Given the description of an element on the screen output the (x, y) to click on. 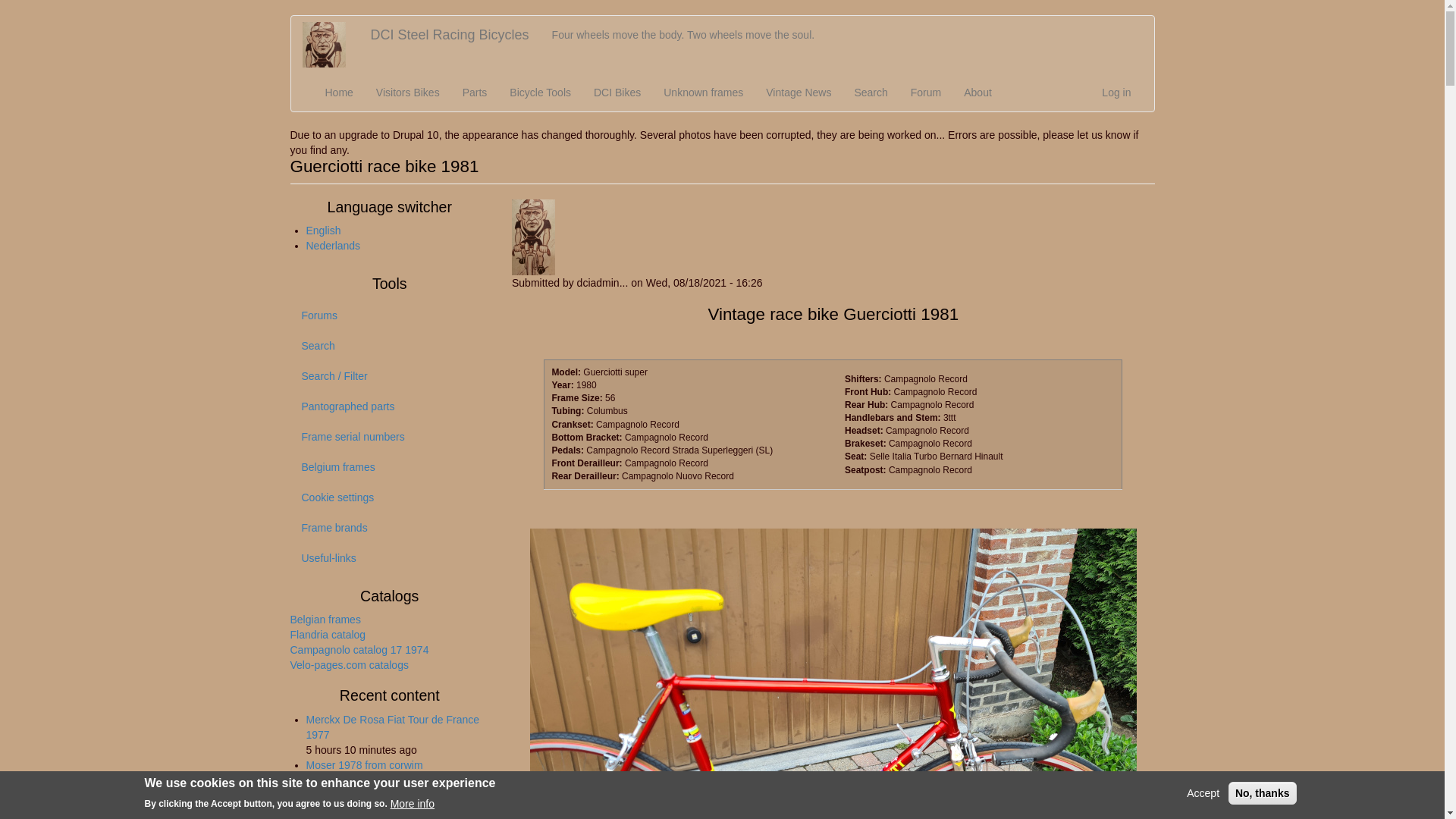
Belgian frames Element type: text (324, 619)
Nederlands Element type: text (333, 245)
Campagnolo catalog 17 1974 Element type: text (358, 649)
Accept Element type: text (1202, 792)
Visitors Bikes Element type: text (407, 92)
Bicycle Tools Element type: text (540, 92)
Vintage News Element type: text (798, 92)
Forums Element type: text (389, 315)
Search Element type: text (389, 345)
Home Element type: hover (329, 44)
About Element type: text (977, 92)
DCI Bikes Element type: text (617, 92)
Useful-links Element type: text (389, 557)
Flandria catalog Element type: text (327, 634)
Skip to main content Element type: text (0, 15)
Moser 1978 from corwim Element type: text (364, 765)
Cookie settings Element type: text (389, 497)
Log in Element type: text (1116, 92)
Search / Filter Element type: text (389, 375)
Velo-pages.com catalogs Element type: text (348, 664)
Forum Element type: text (925, 92)
Campagnolo Gran Sport Deraileur 1955 Element type: text (386, 802)
Merckx De Rosa Fiat Tour de France 1977 Element type: text (393, 726)
Home Element type: text (338, 92)
Frame brands Element type: text (389, 527)
No, thanks Element type: text (1262, 792)
DCI Steel Racing Bicycles Element type: text (449, 34)
Unknown frames Element type: text (703, 92)
More info Element type: text (412, 802)
Belgium frames Element type: text (389, 466)
Pantographed parts Element type: text (389, 406)
English Element type: text (323, 230)
Search Element type: text (870, 92)
Frame serial numbers Element type: text (389, 436)
Parts Element type: text (474, 92)
